Given the description of an element on the screen output the (x, y) to click on. 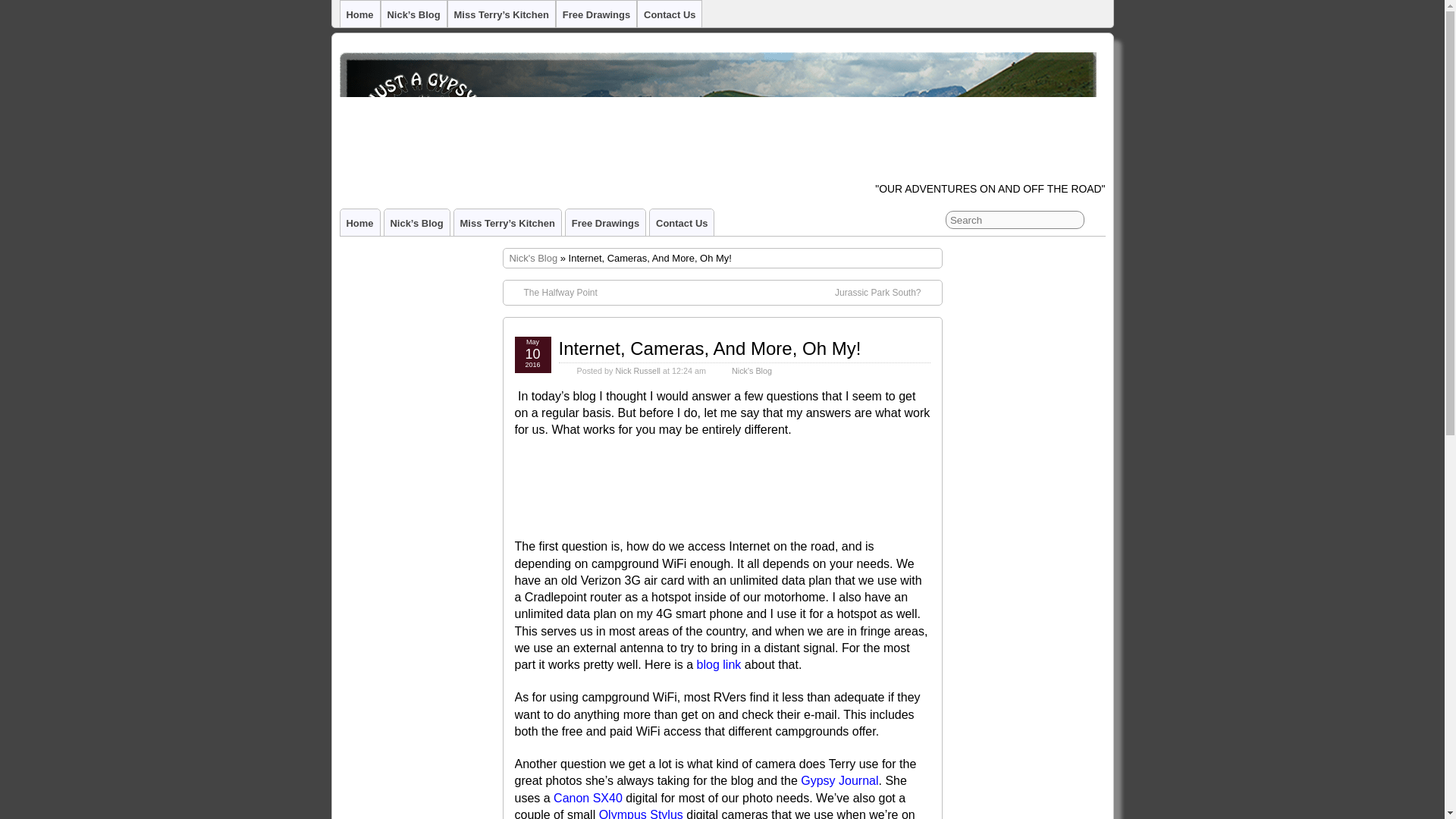
Internet, Cameras, And More, Oh My! (708, 348)
Nick's Blog (751, 370)
Olympus Stylus (640, 813)
Contact Us (669, 13)
Free Drawings (605, 222)
Home (358, 13)
Contact Us (681, 222)
Nick Russell (638, 370)
Home (358, 222)
Gypsy Journal (838, 780)
